Given the description of an element on the screen output the (x, y) to click on. 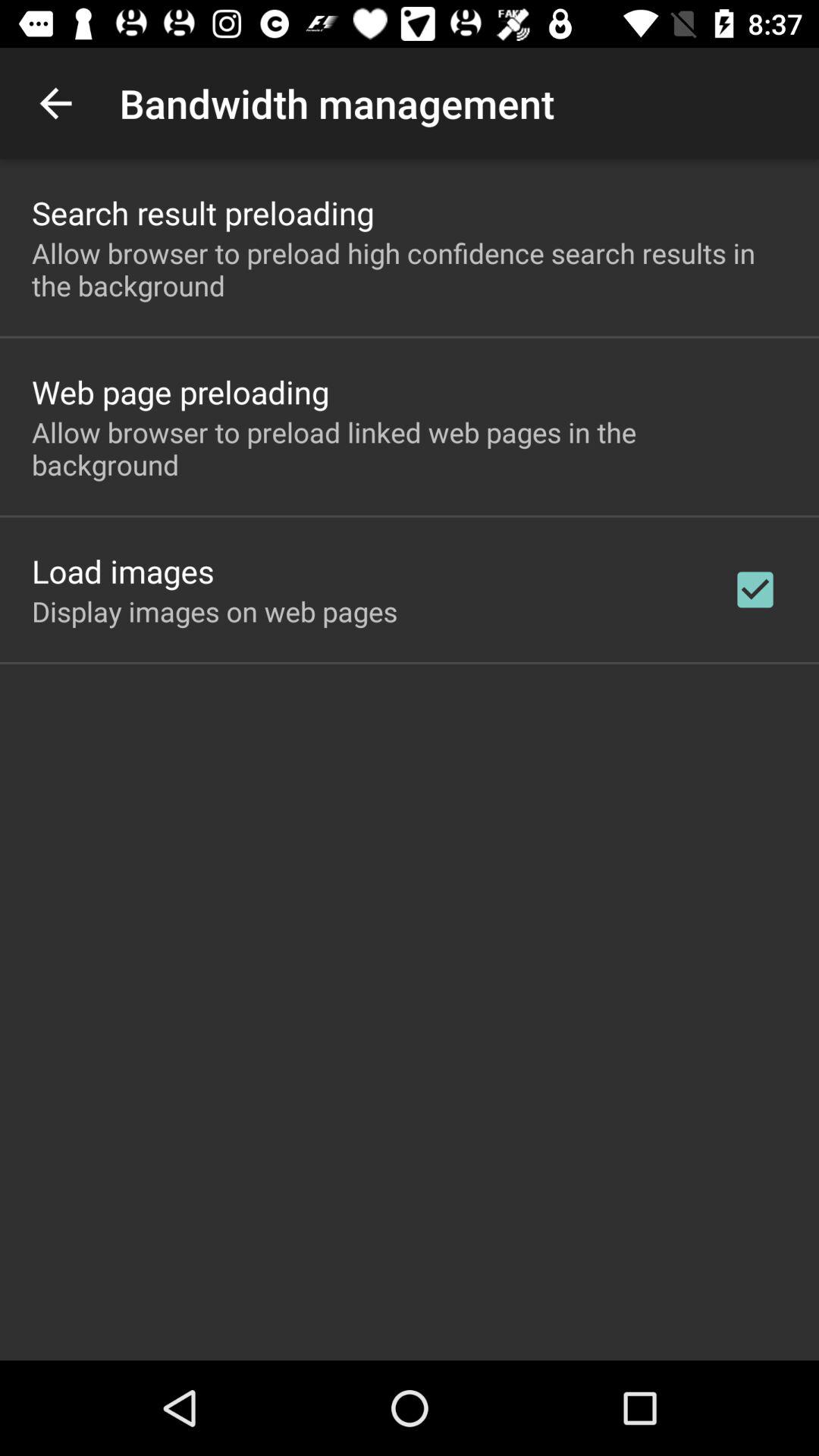
flip until the display images on icon (214, 611)
